Given the description of an element on the screen output the (x, y) to click on. 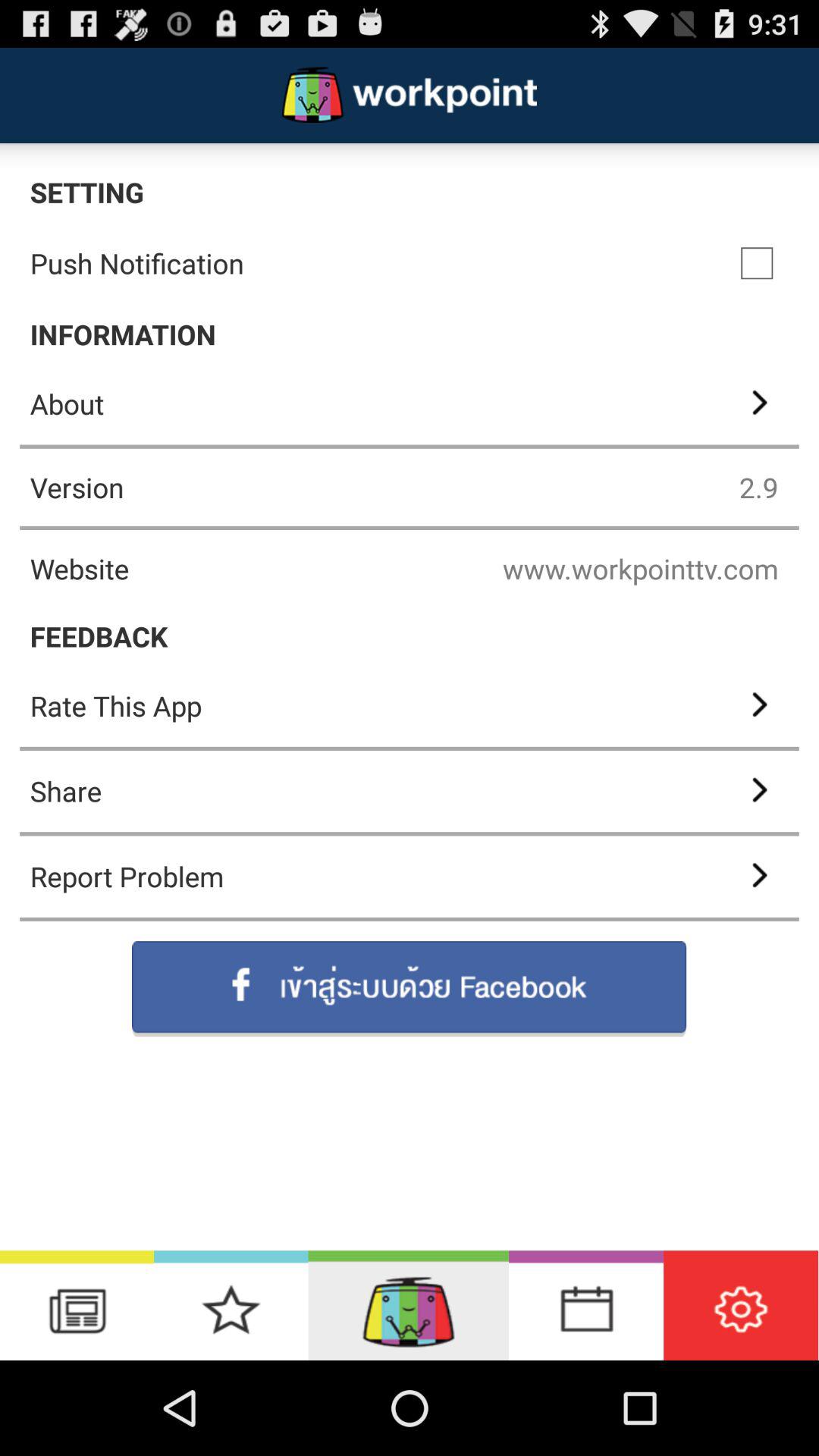
select the icon above information icon (756, 263)
